Given the description of an element on the screen output the (x, y) to click on. 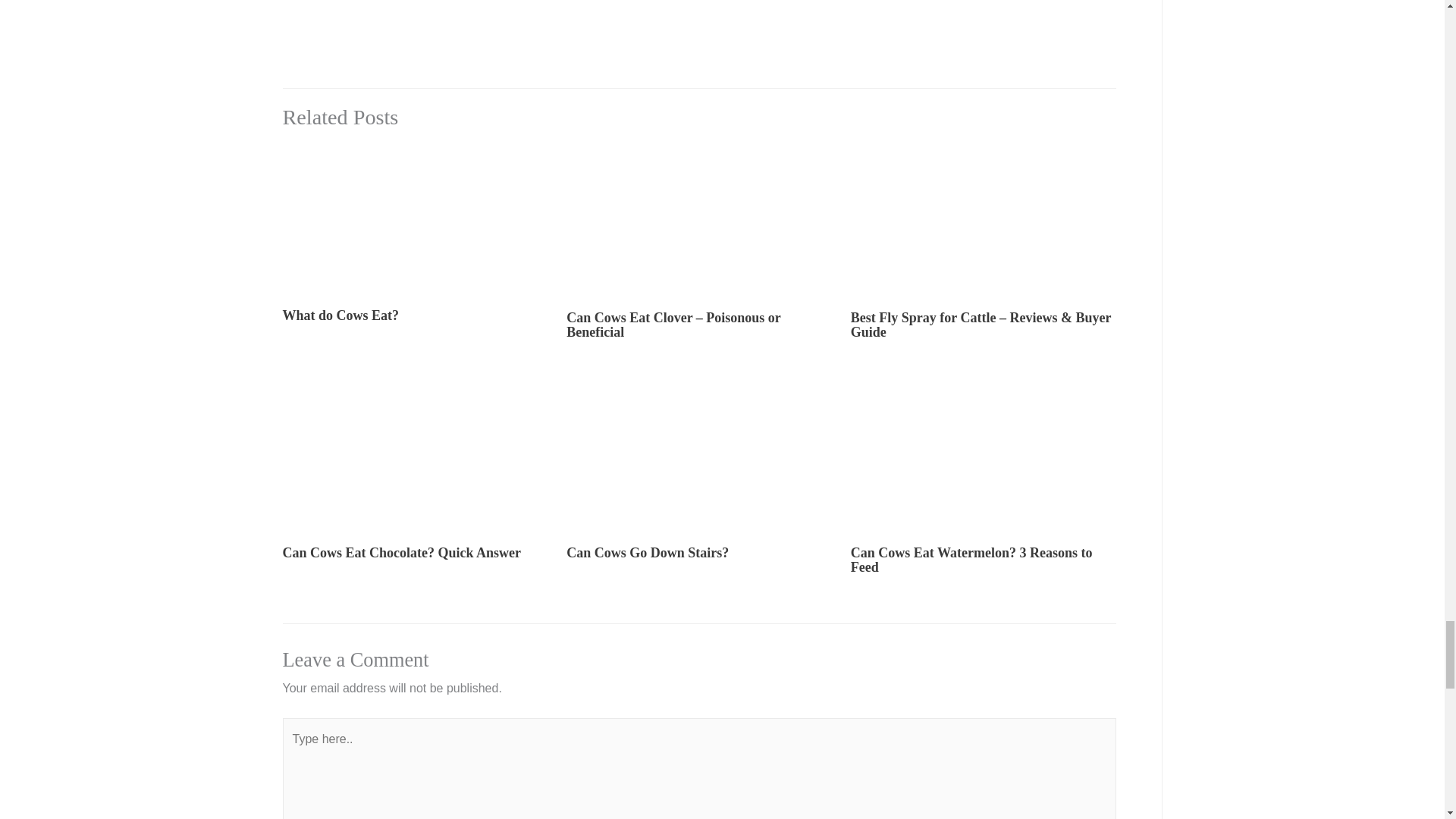
Can Cows Eat Clover - Poisonous or Beneficial (698, 222)
Can Cows Go Down Stairs? (698, 458)
Can Cows Eat Watermelon? 3 Reasons to Feed (983, 458)
What do Cows Eat? (414, 221)
Can Cows Eat Chocolate? Quick Answer (414, 458)
